Given the description of an element on the screen output the (x, y) to click on. 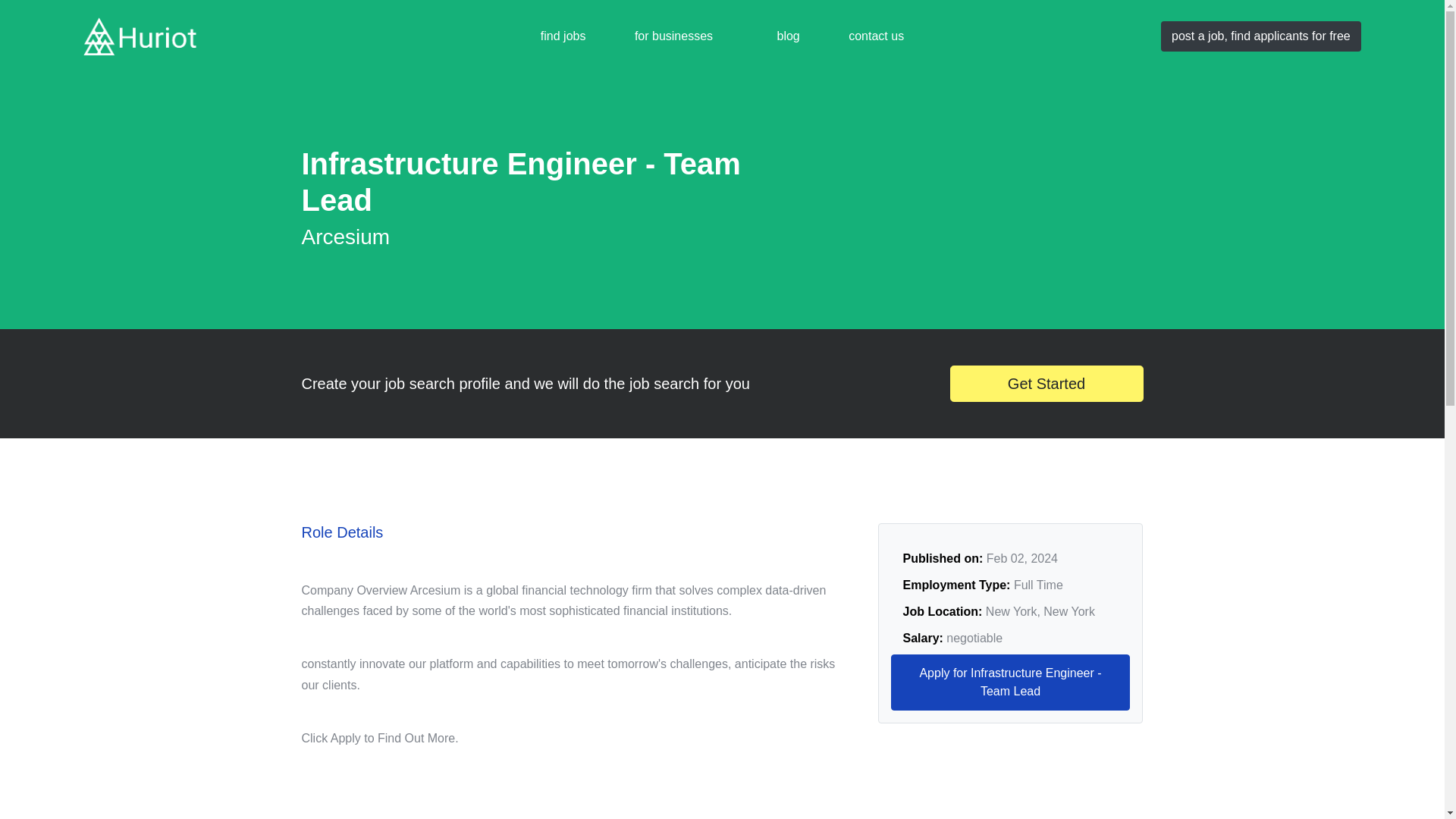
find jobs (563, 35)
Why Huriot (674, 35)
post a job, find applicants for free (1260, 36)
Contact (875, 35)
Home (563, 35)
Get Started (1045, 383)
Blog (788, 35)
Apply for Infrastructure Engineer - Team Lead (1009, 682)
blog (788, 35)
for businesses (674, 35)
contact us (875, 35)
